Given the description of an element on the screen output the (x, y) to click on. 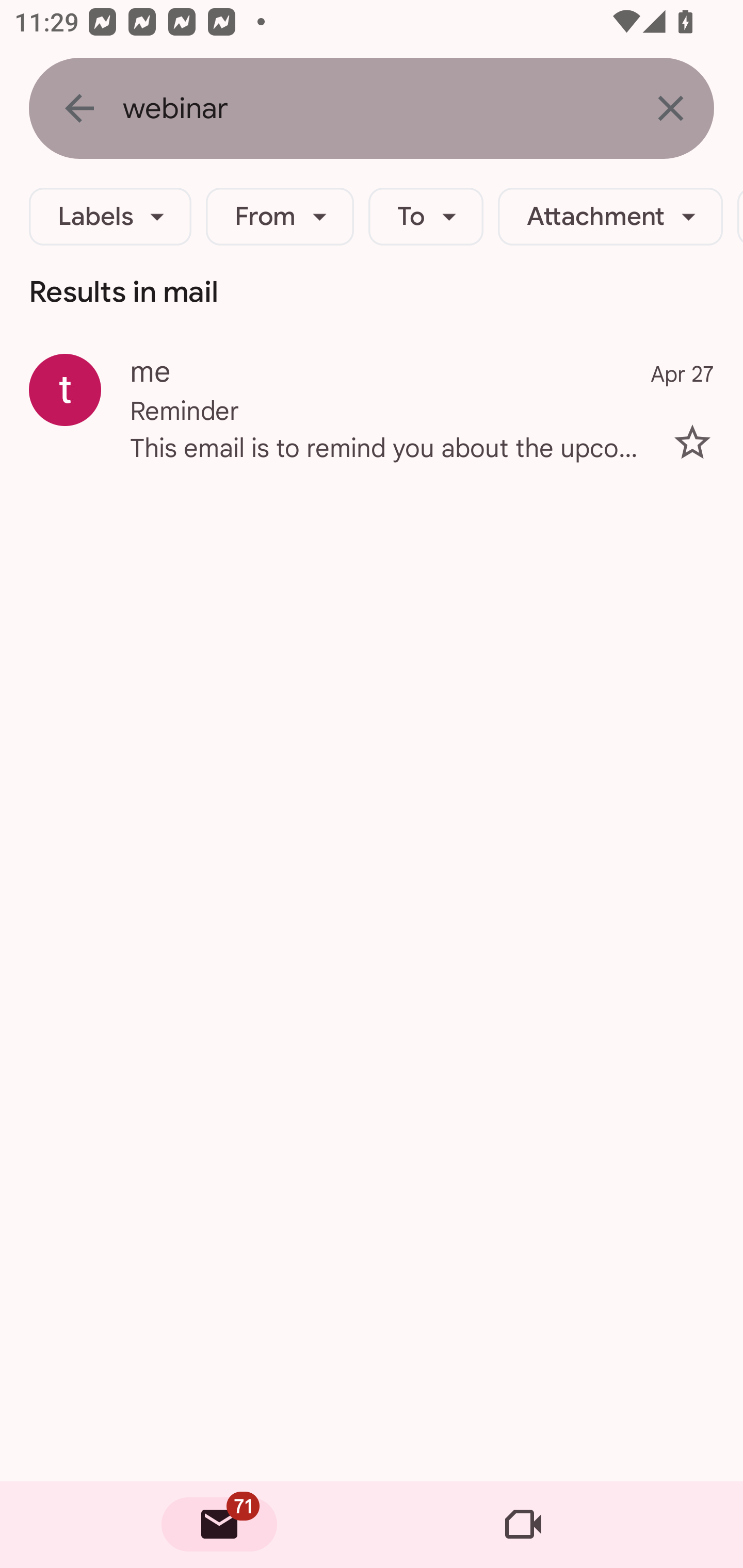
webinar Navigate up webinar Clear search text (371, 108)
Navigate up (79, 108)
Clear search text (670, 108)
Labels (109, 217)
From (279, 217)
To (425, 217)
Attachment (609, 217)
Meet (523, 1524)
